Given the description of an element on the screen output the (x, y) to click on. 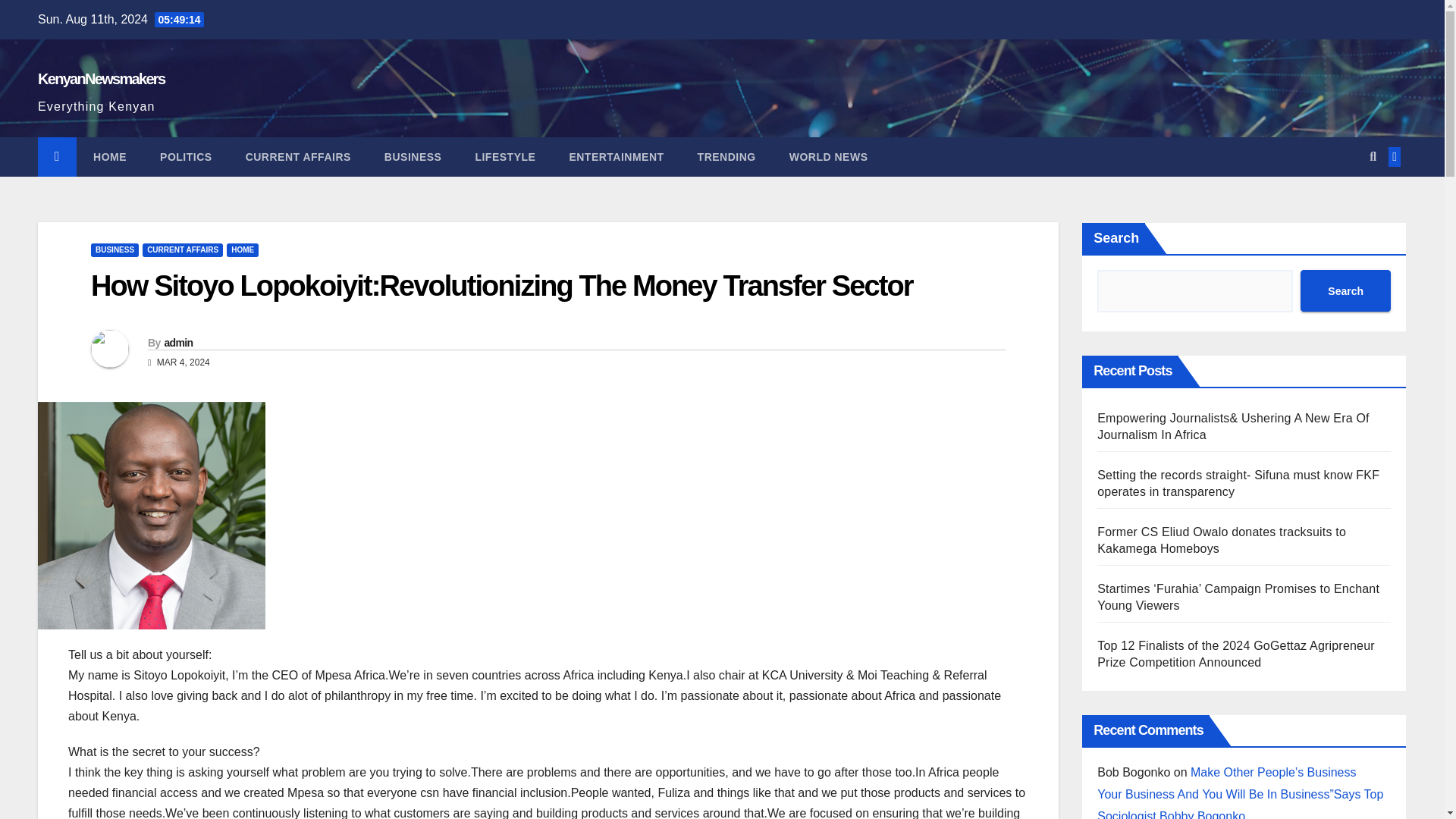
Politics (185, 156)
Lifestyle (504, 156)
Entertainment (615, 156)
Trending (727, 156)
LIFESTYLE (504, 156)
ENTERTAINMENT (615, 156)
HOME (109, 156)
WORLD NEWS (829, 156)
POLITICS (185, 156)
admin (177, 342)
